Given the description of an element on the screen output the (x, y) to click on. 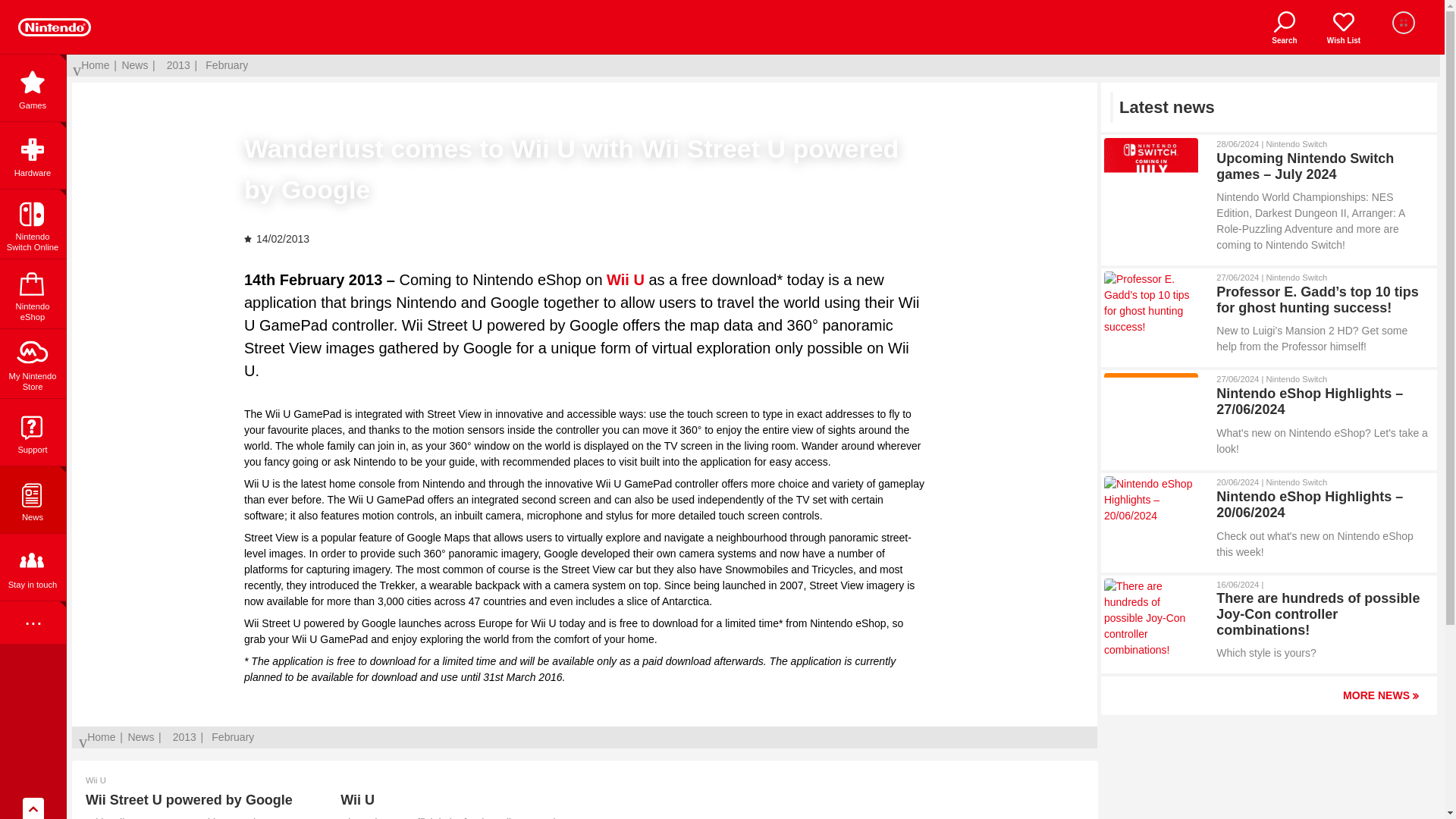
Wish List (1343, 26)
Search (1284, 26)
